Given the description of an element on the screen output the (x, y) to click on. 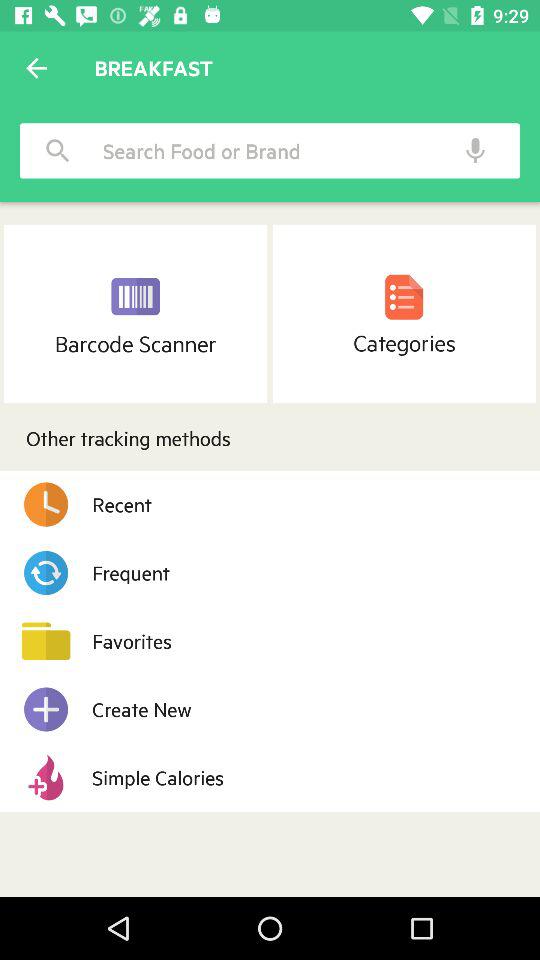
turn off the icon next to breakfast item (36, 68)
